Given the description of an element on the screen output the (x, y) to click on. 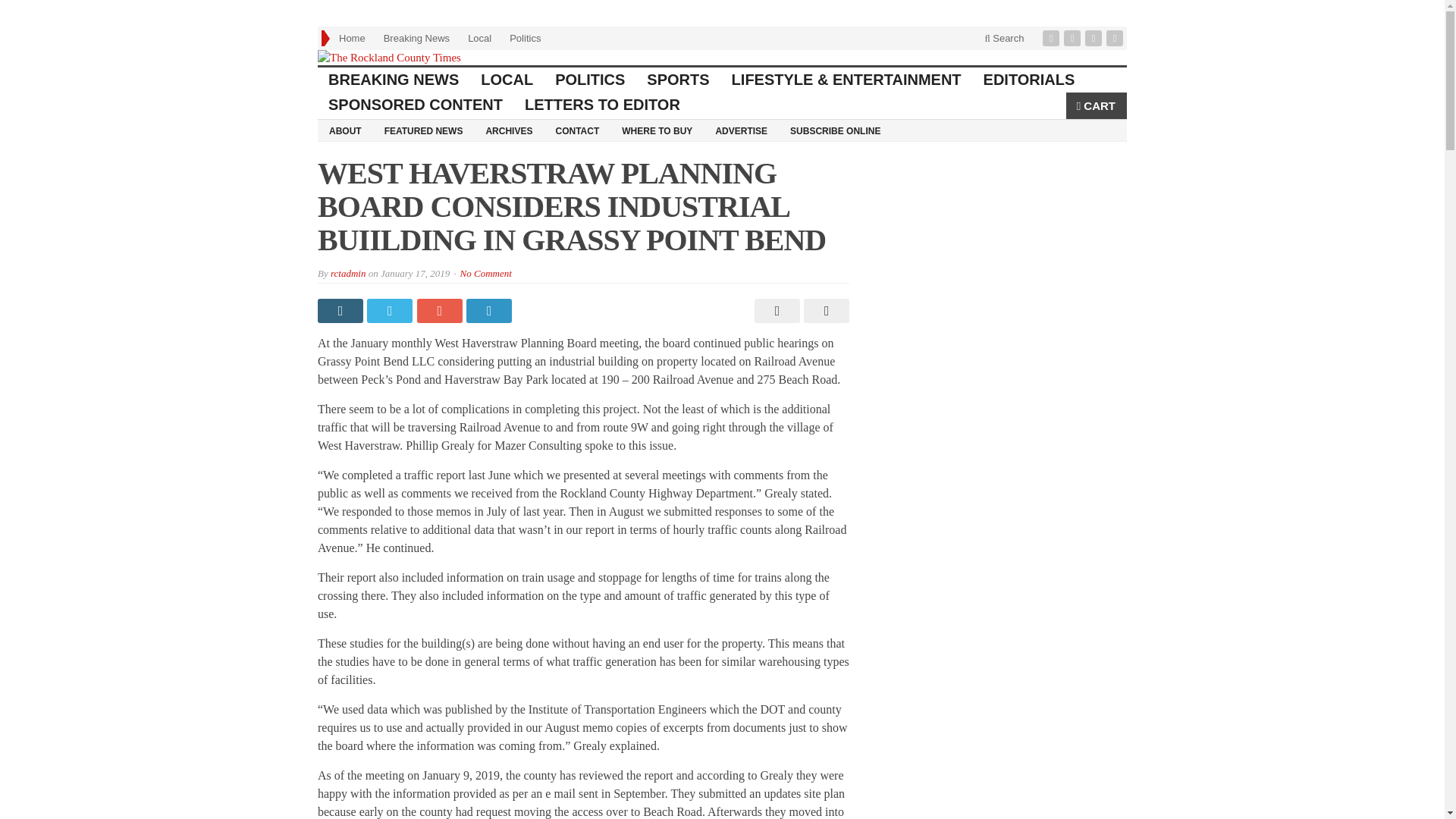
Breaking News (416, 37)
SPORTS (678, 79)
Facebook (1052, 37)
SPONSORED CONTENT (415, 104)
No Comment (486, 273)
Share on Facebook (341, 310)
Share on LinkedIn (490, 310)
SUBSCRIBE ONLINE (834, 129)
Twitter (1073, 37)
Rockland County's Source for Real News Since 1888 (721, 57)
Share on Twitter (391, 310)
Search (1003, 37)
Politics (525, 37)
POLITICS (590, 79)
ADVERTISE (740, 129)
